Given the description of an element on the screen output the (x, y) to click on. 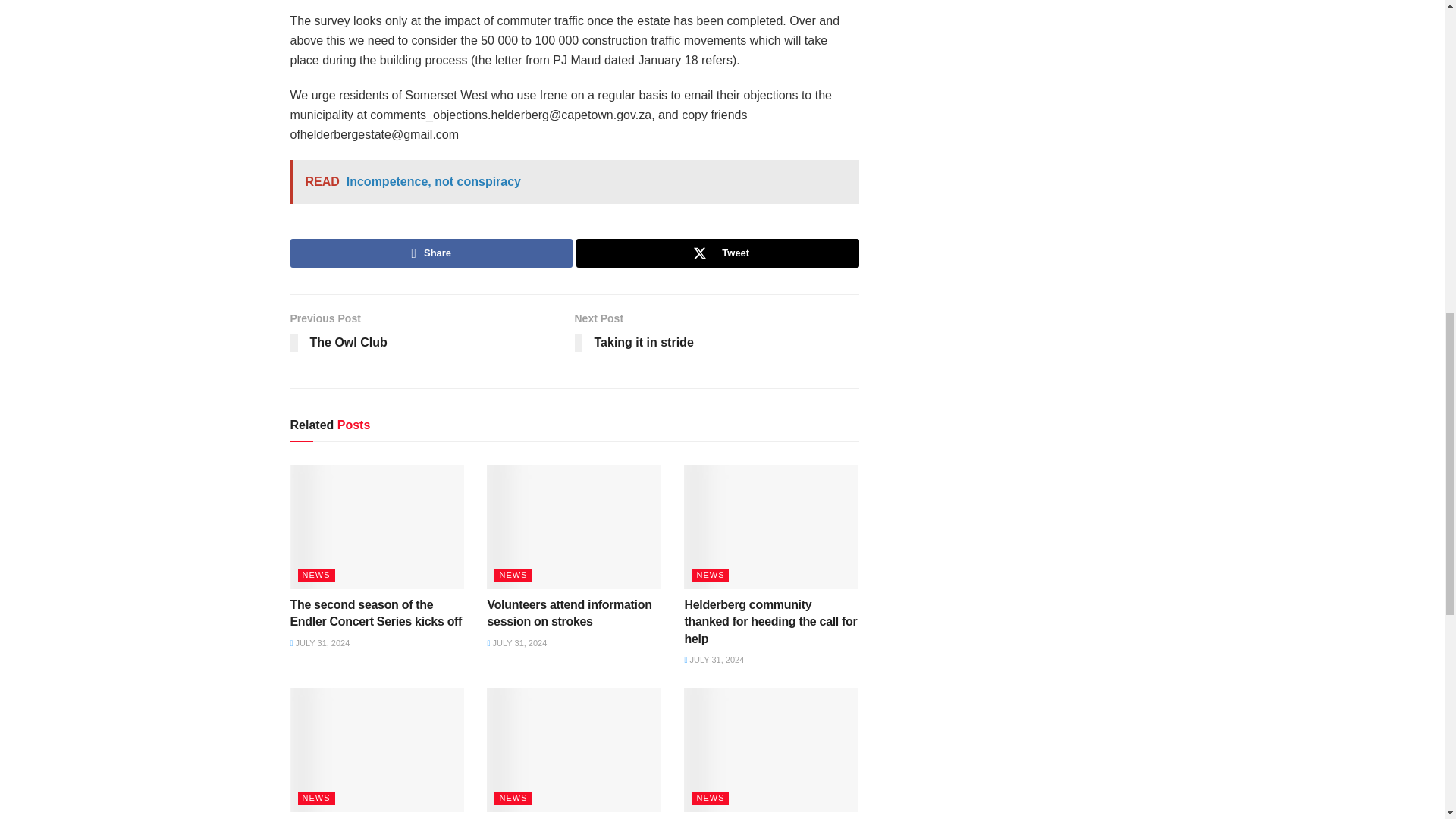
Share (430, 253)
Tweet (717, 253)
READ  Incompetence, not conspiracy (574, 181)
